Given the description of an element on the screen output the (x, y) to click on. 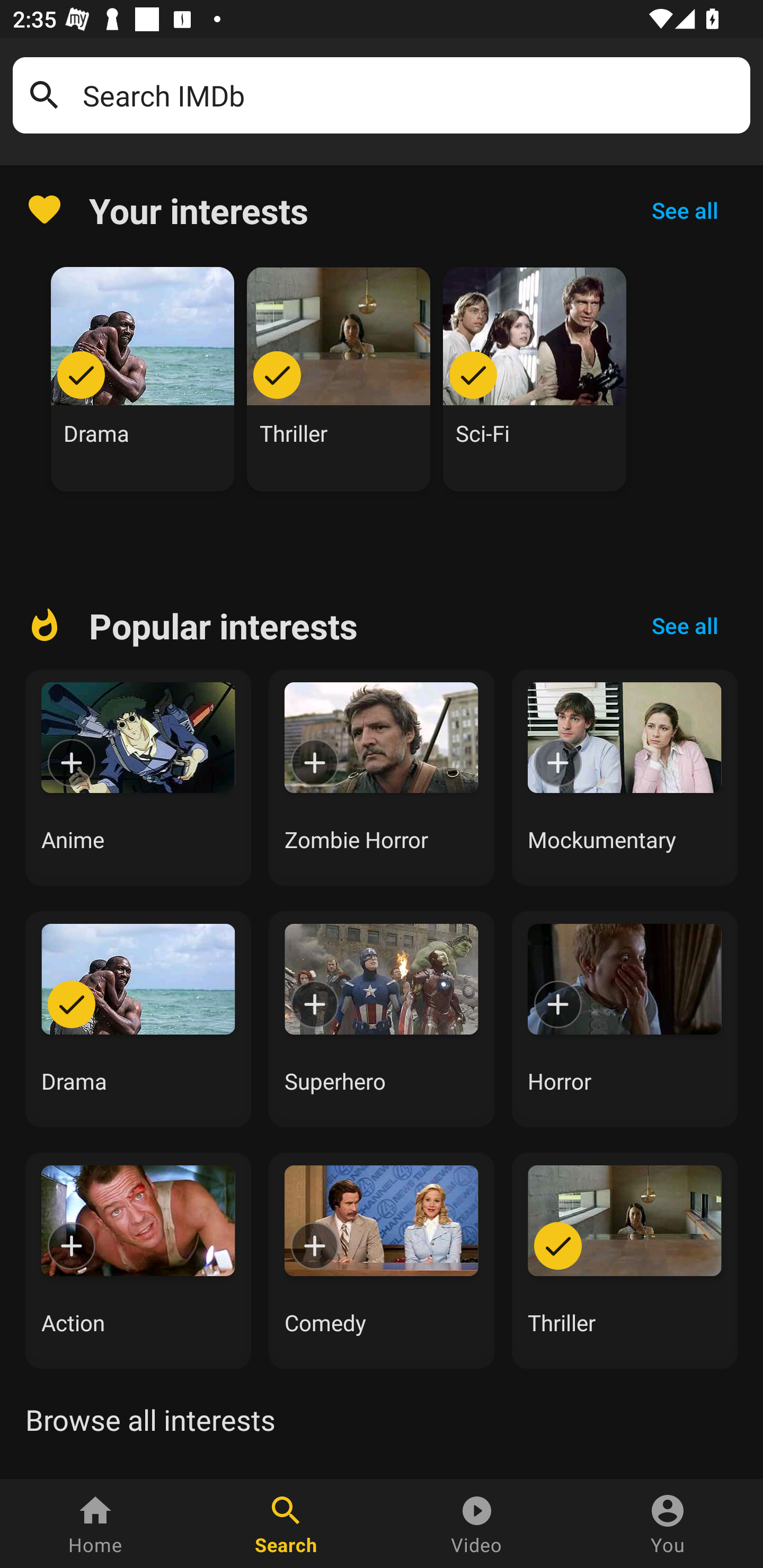
Search IMDb (410, 95)
See all (684, 209)
Drama (142, 379)
Thriller (338, 379)
Sci-Fi (534, 379)
See all (684, 625)
Anime (138, 777)
Zombie Horror (381, 777)
Mockumentary (624, 777)
Drama (138, 1018)
Superhero (381, 1018)
Horror (624, 1018)
Action (138, 1260)
Comedy (381, 1260)
Thriller (624, 1260)
Browse all interests (150, 1419)
Home (95, 1523)
Video (476, 1523)
You (667, 1523)
